Given the description of an element on the screen output the (x, y) to click on. 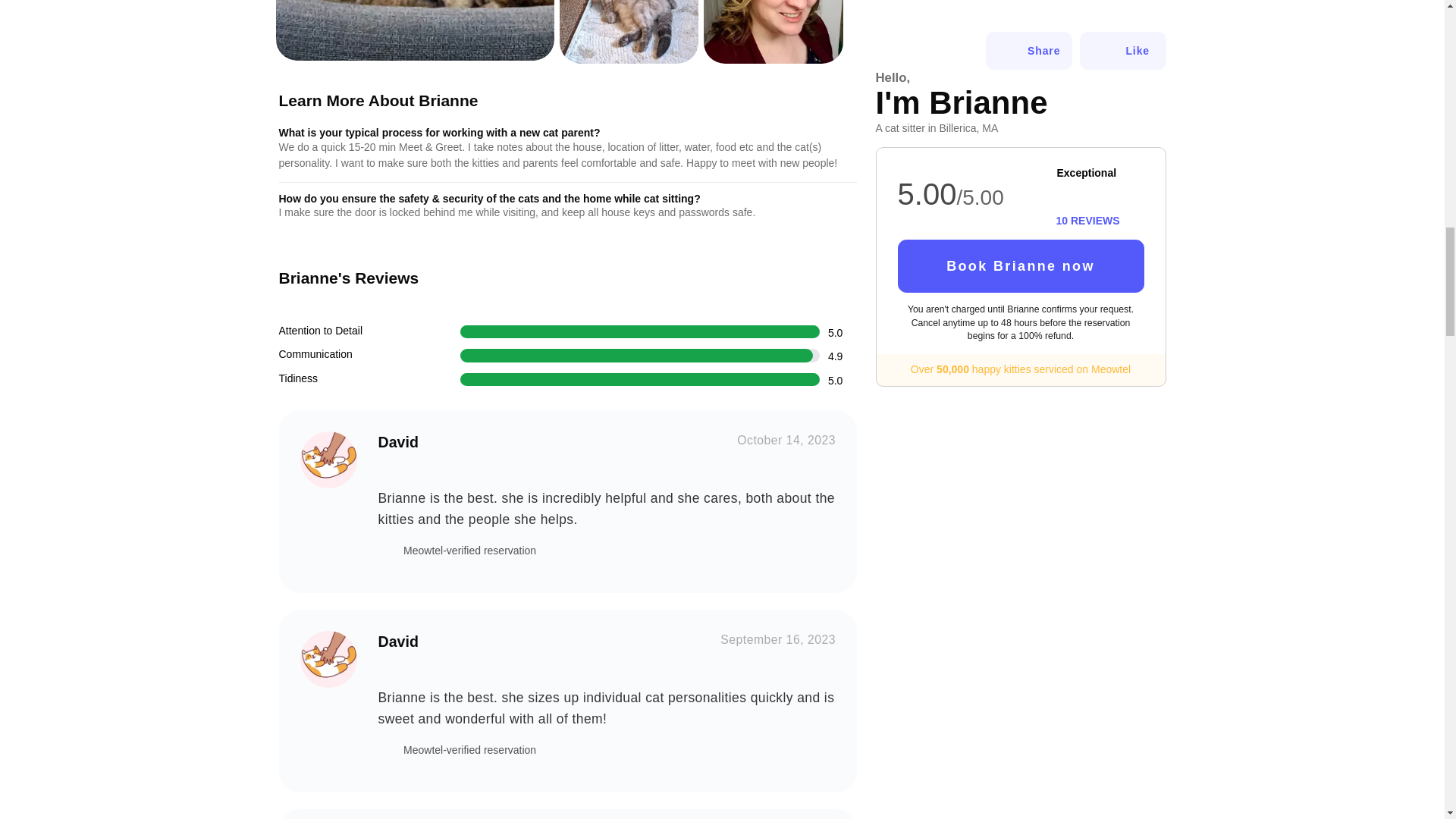
David (327, 658)
Photo (415, 30)
David (327, 459)
